Given the description of an element on the screen output the (x, y) to click on. 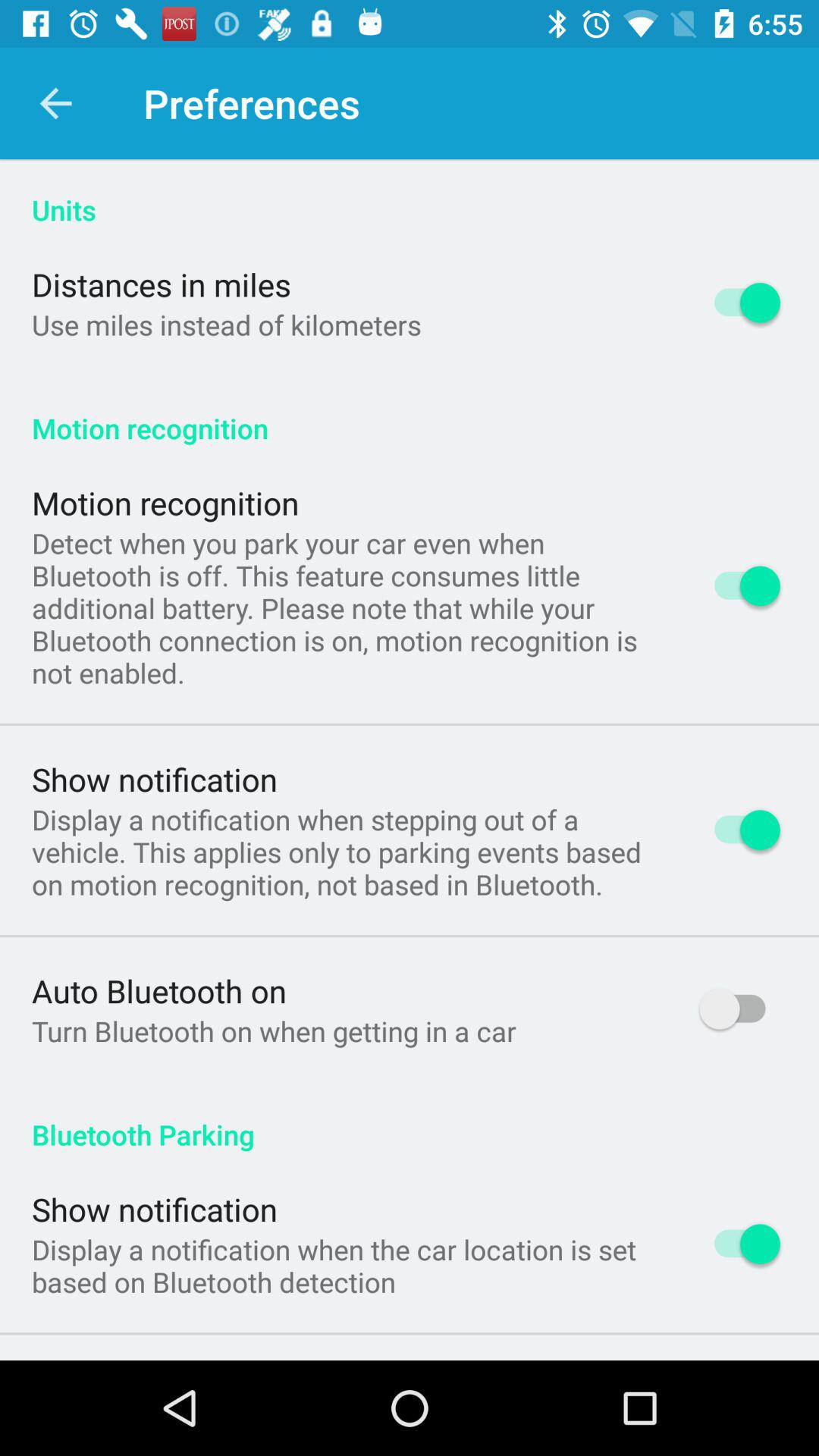
launch item to the left of preferences icon (55, 103)
